Given the description of an element on the screen output the (x, y) to click on. 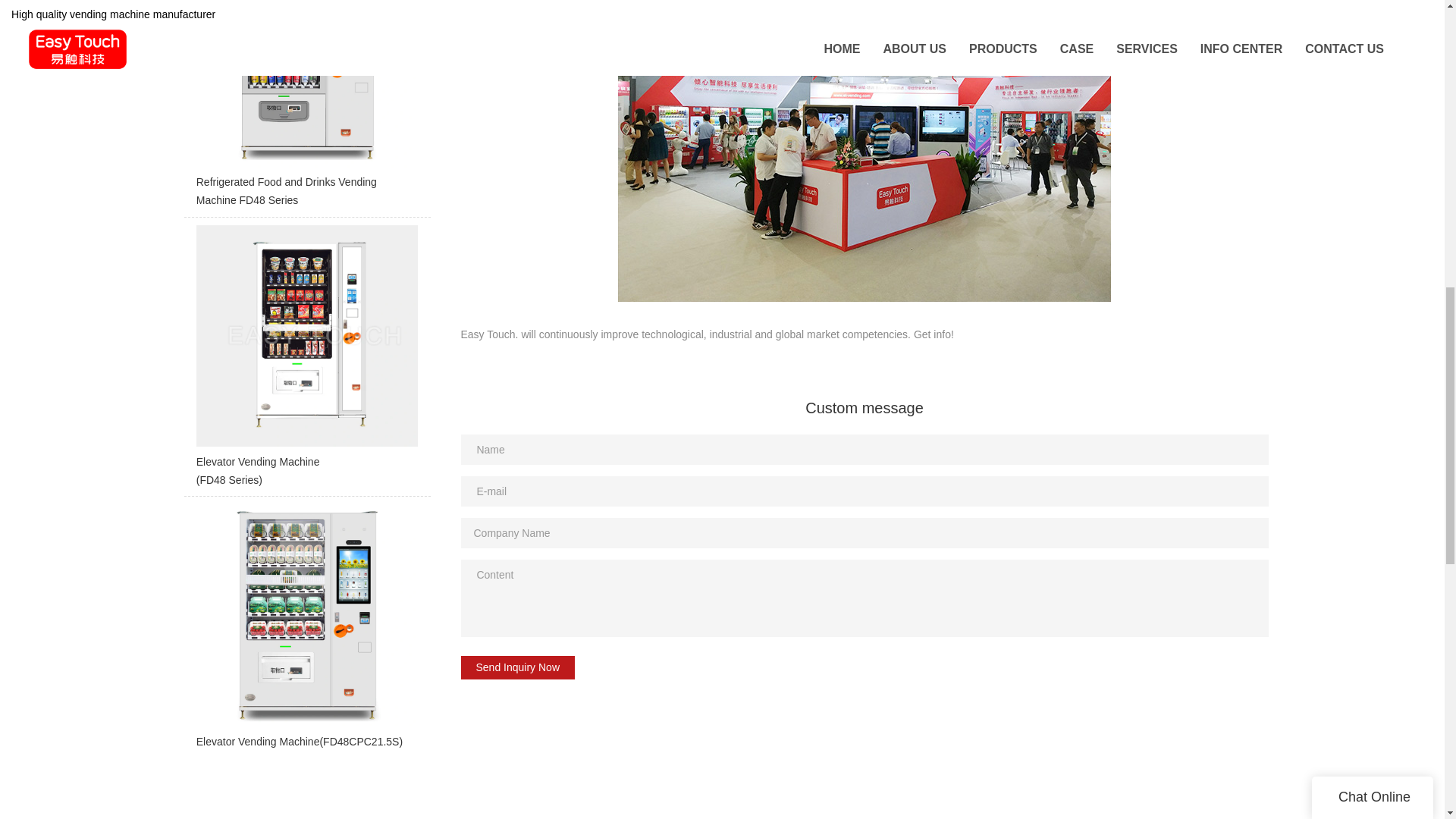
Send Inquiry Now (518, 667)
Refrigerated Food and Drinks Vending Machine FD48 Series (306, 108)
